Given the description of an element on the screen output the (x, y) to click on. 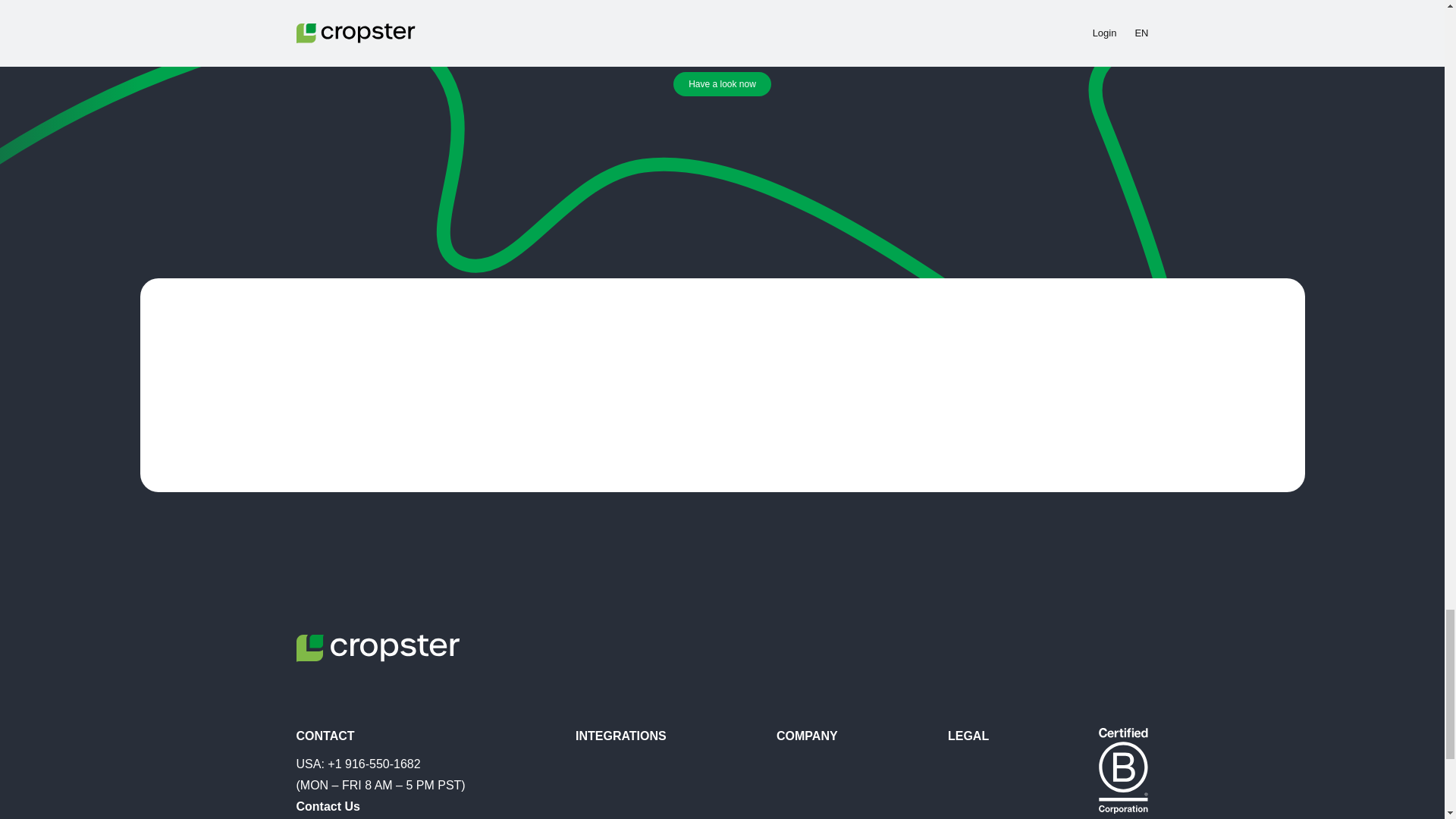
Have a look now (721, 84)
